Given the description of an element on the screen output the (x, y) to click on. 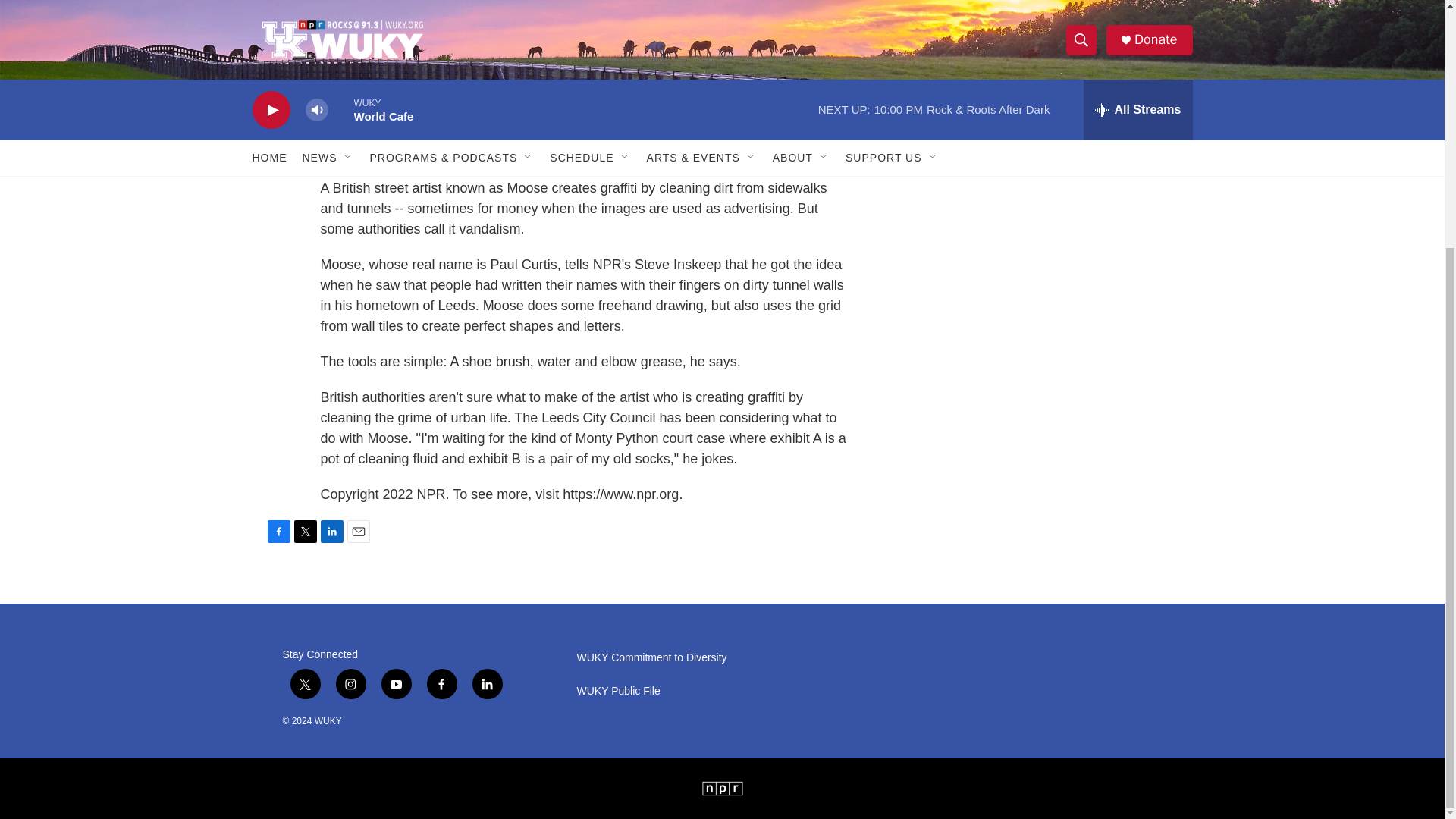
3rd party ad content (1070, 120)
